Given the description of an element on the screen output the (x, y) to click on. 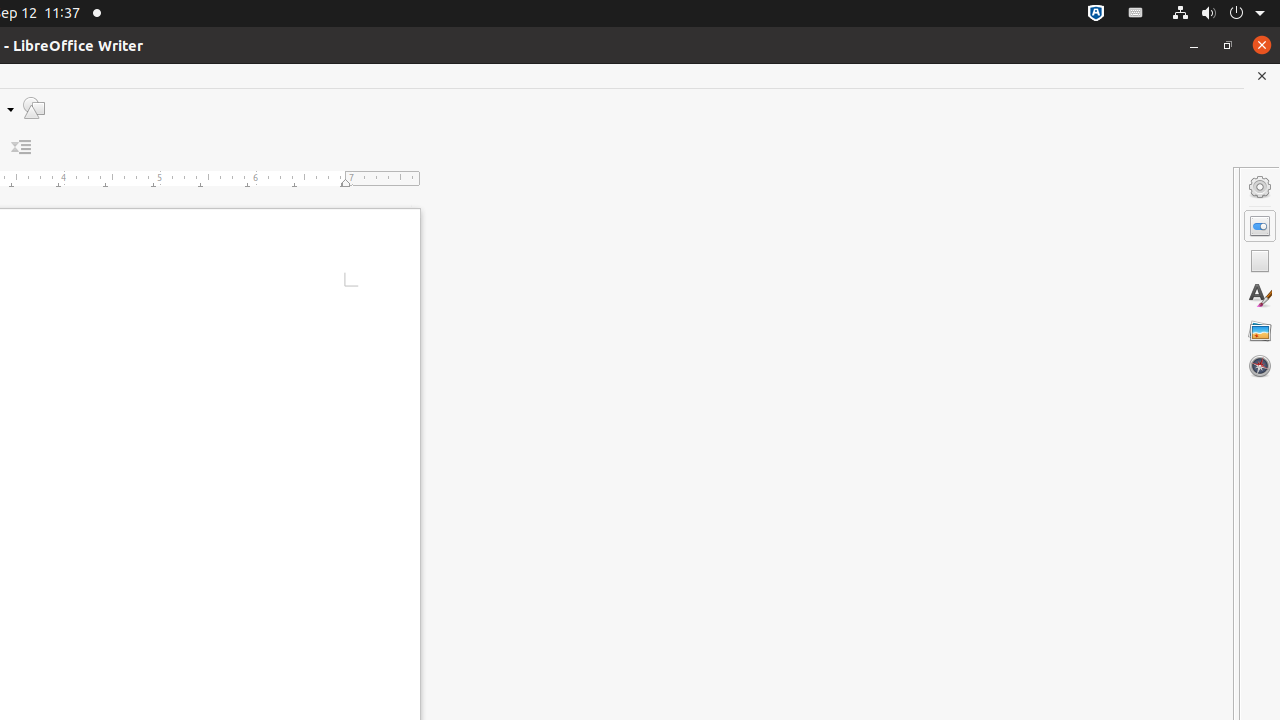
Styles Element type: radio-button (1260, 296)
Properties Element type: radio-button (1260, 226)
System Element type: menu (1218, 13)
Gallery Element type: radio-button (1260, 331)
Decrease Element type: push-button (21, 147)
